Given the description of an element on the screen output the (x, y) to click on. 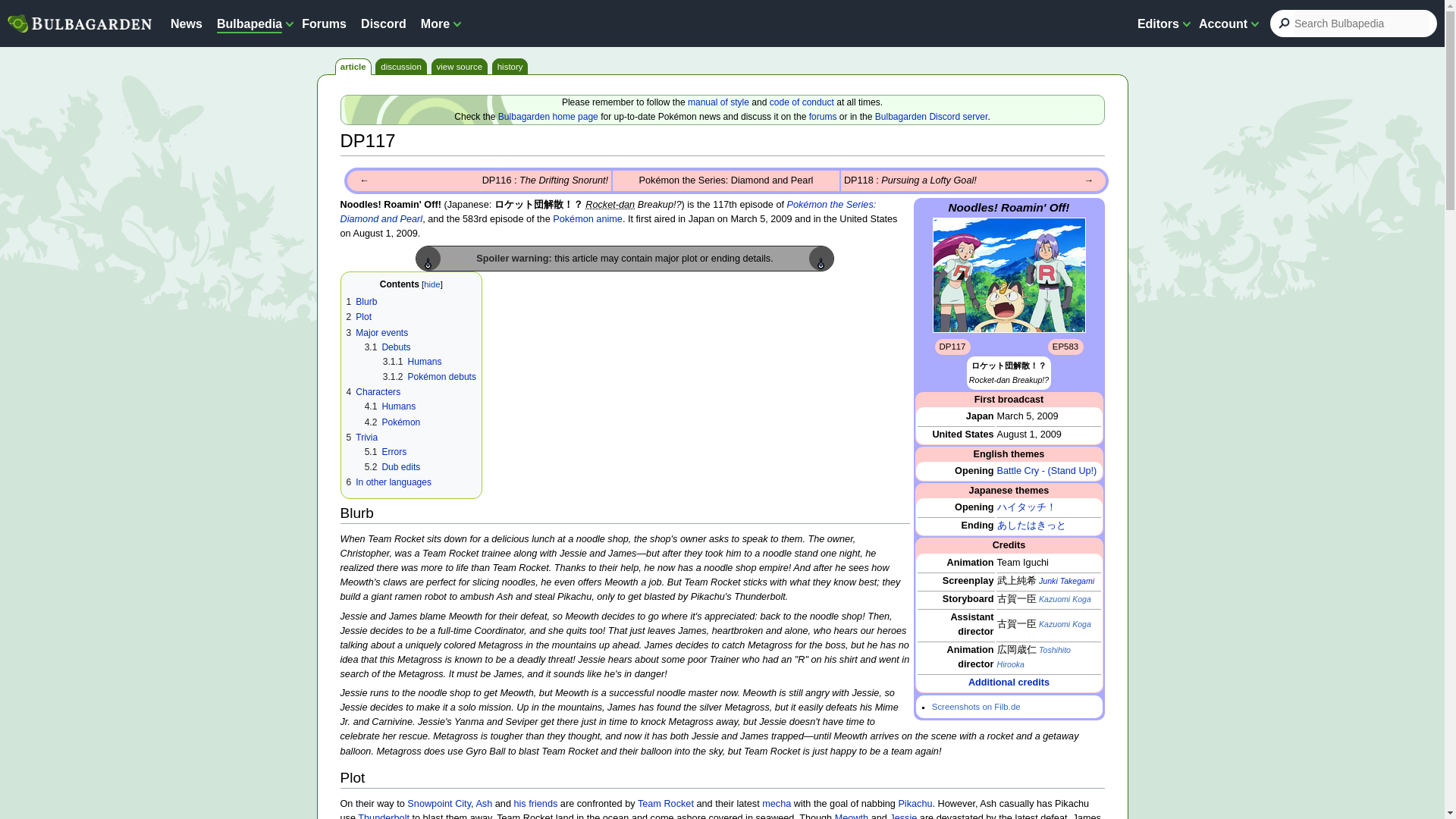
DP118 (1088, 180)
Bulbapedia:Code of conduct (802, 102)
DP118 (910, 180)
Bulbapedia:Manual of style (718, 102)
Junki Takegami (1066, 580)
High Touch! (1025, 507)
Surely Tomorrow (1030, 525)
DP116 (544, 180)
List of Japanese opening themes (973, 507)
List of English opening themes (973, 470)
